Given the description of an element on the screen output the (x, y) to click on. 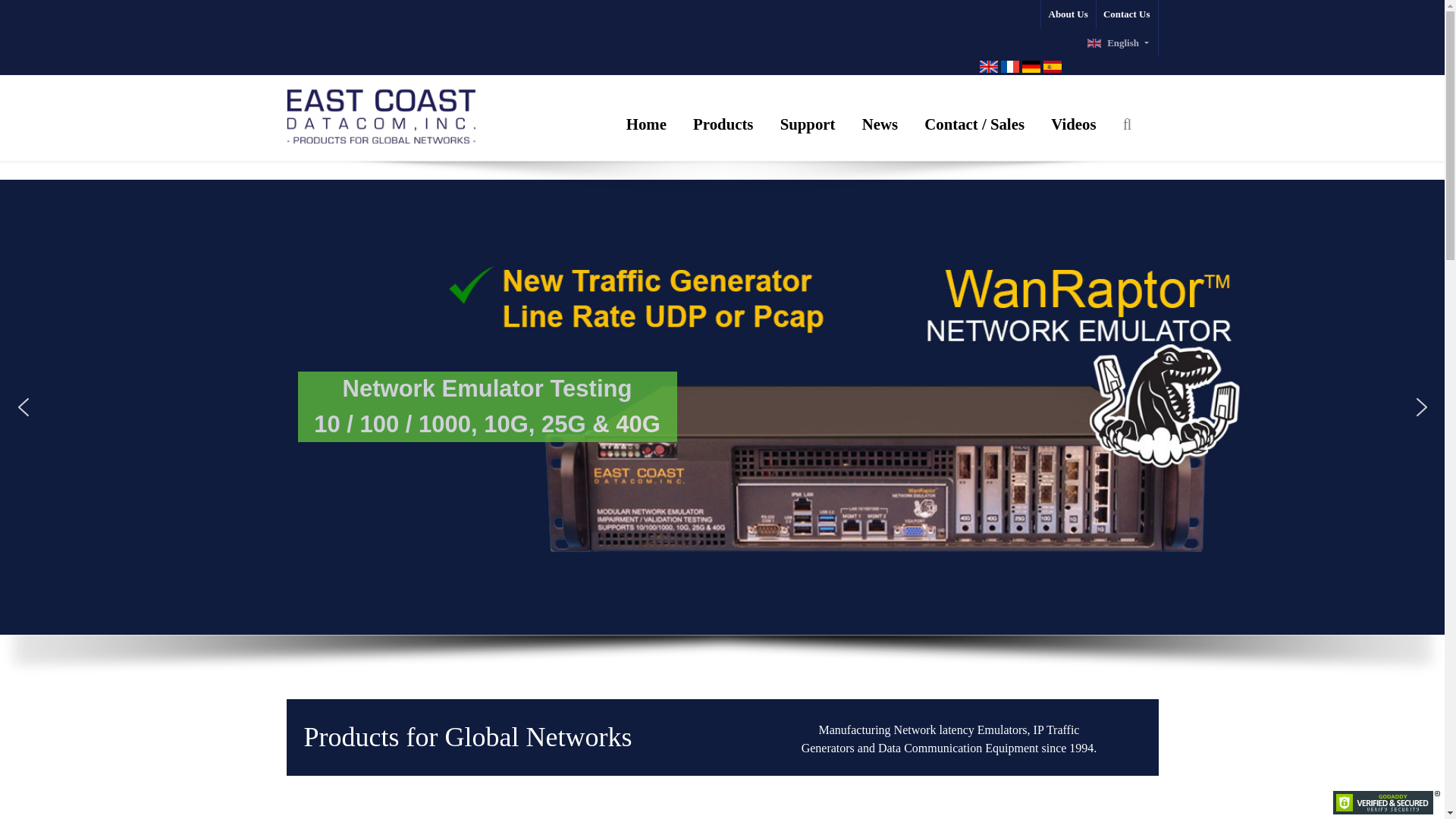
About Us (1068, 14)
German (1031, 66)
English (1117, 42)
Twitter (1078, 759)
Contact Us (1126, 14)
Pinterest (1144, 759)
Spanish (1052, 66)
French (1010, 66)
Home (645, 123)
Products (722, 123)
East Coast Data (381, 112)
Linkedin (1112, 759)
Support (807, 123)
Videos (1073, 123)
News (879, 123)
